Given the description of an element on the screen output the (x, y) to click on. 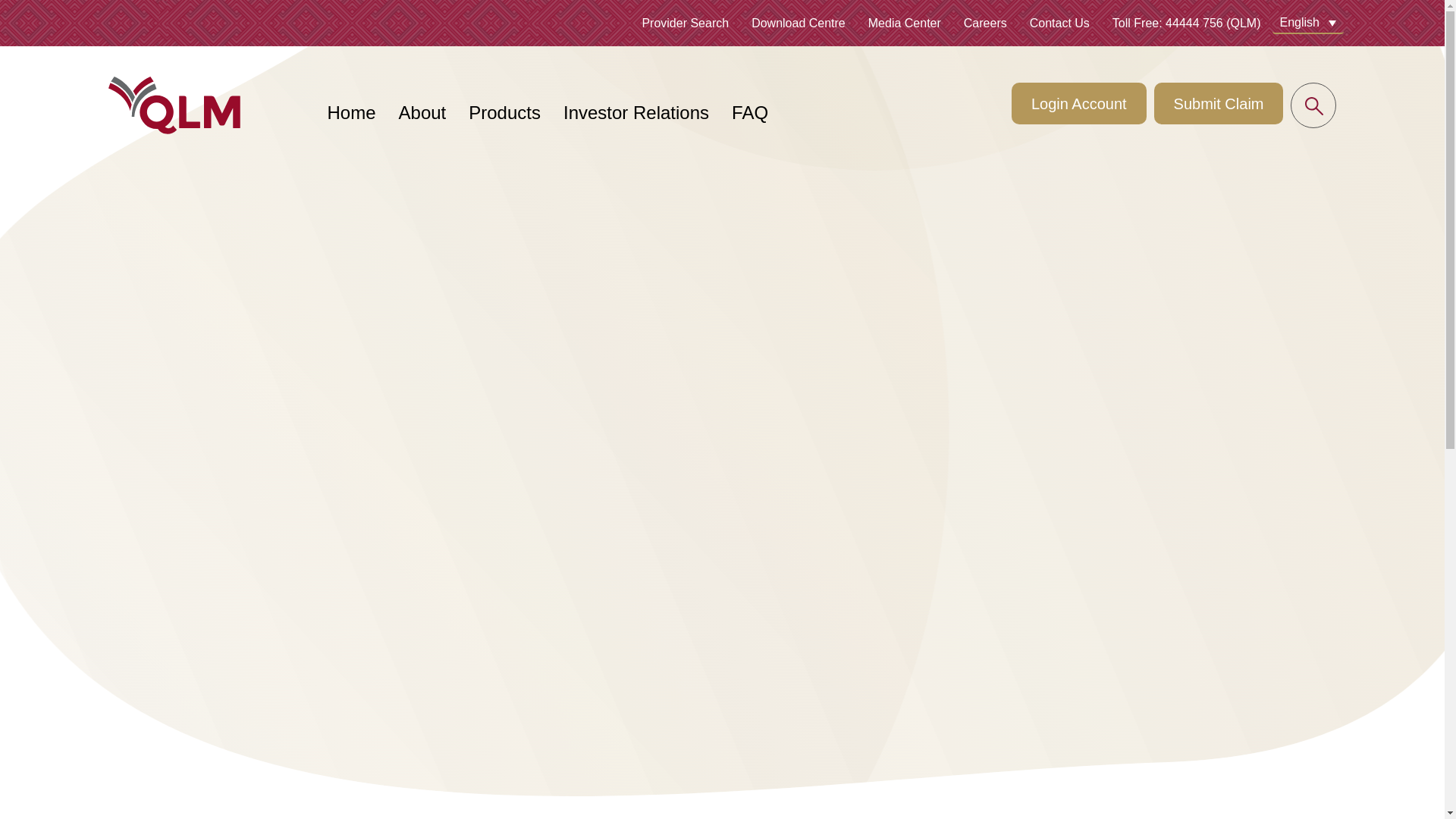
About (422, 112)
Home (351, 112)
Investor Relations (636, 112)
Careers (985, 24)
Products (504, 112)
Provider Search (685, 24)
Media Center (903, 24)
English (1307, 22)
Submit Claim (1219, 103)
Contact Us (1059, 24)
Download Centre (798, 24)
FAQ (750, 112)
Login Account (1079, 103)
